Given the description of an element on the screen output the (x, y) to click on. 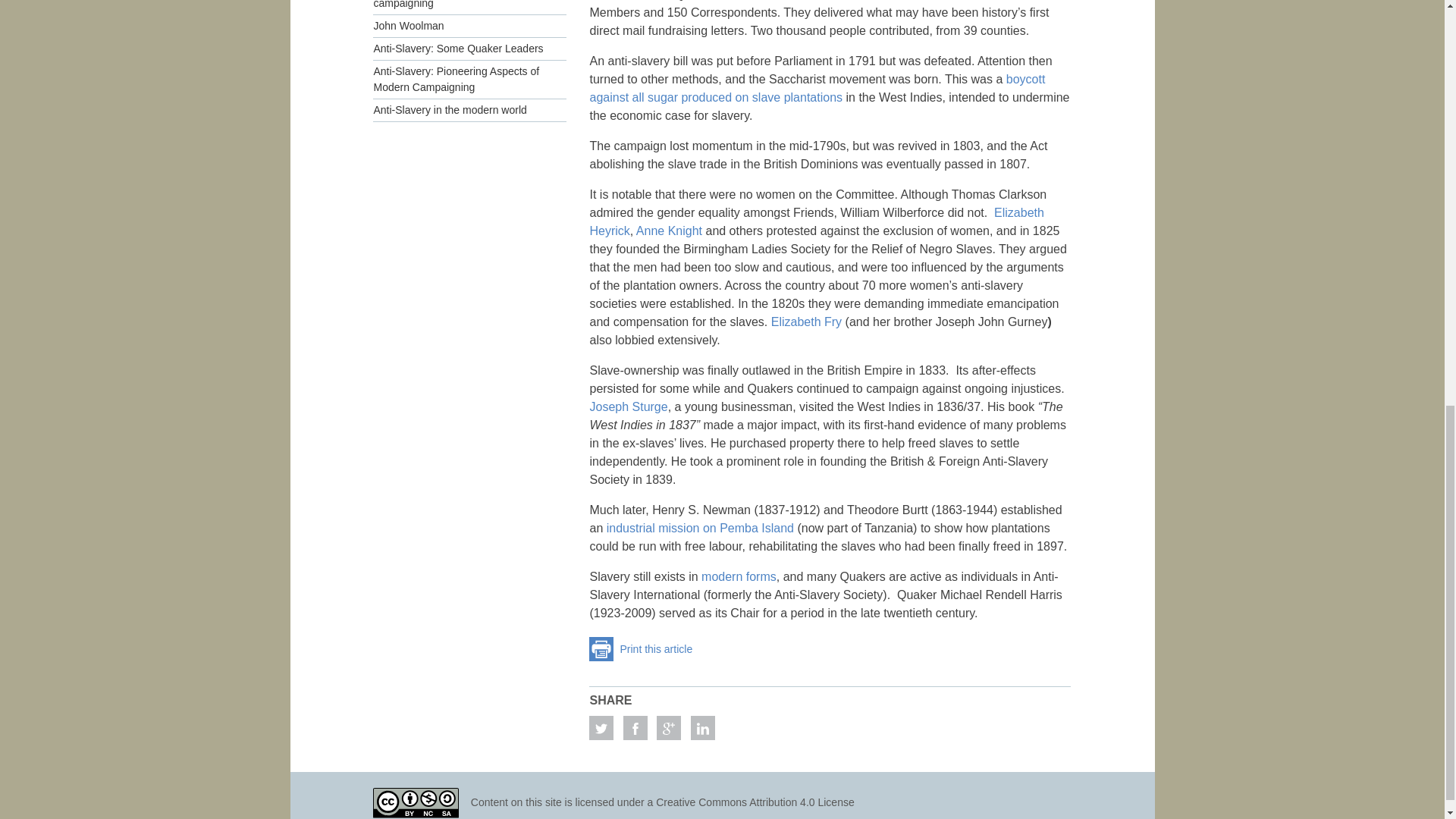
Post to Twitter (600, 727)
Post to Google Plus (668, 727)
Post to LinkedIn (702, 727)
Post to Facebook (635, 727)
